Given the description of an element on the screen output the (x, y) to click on. 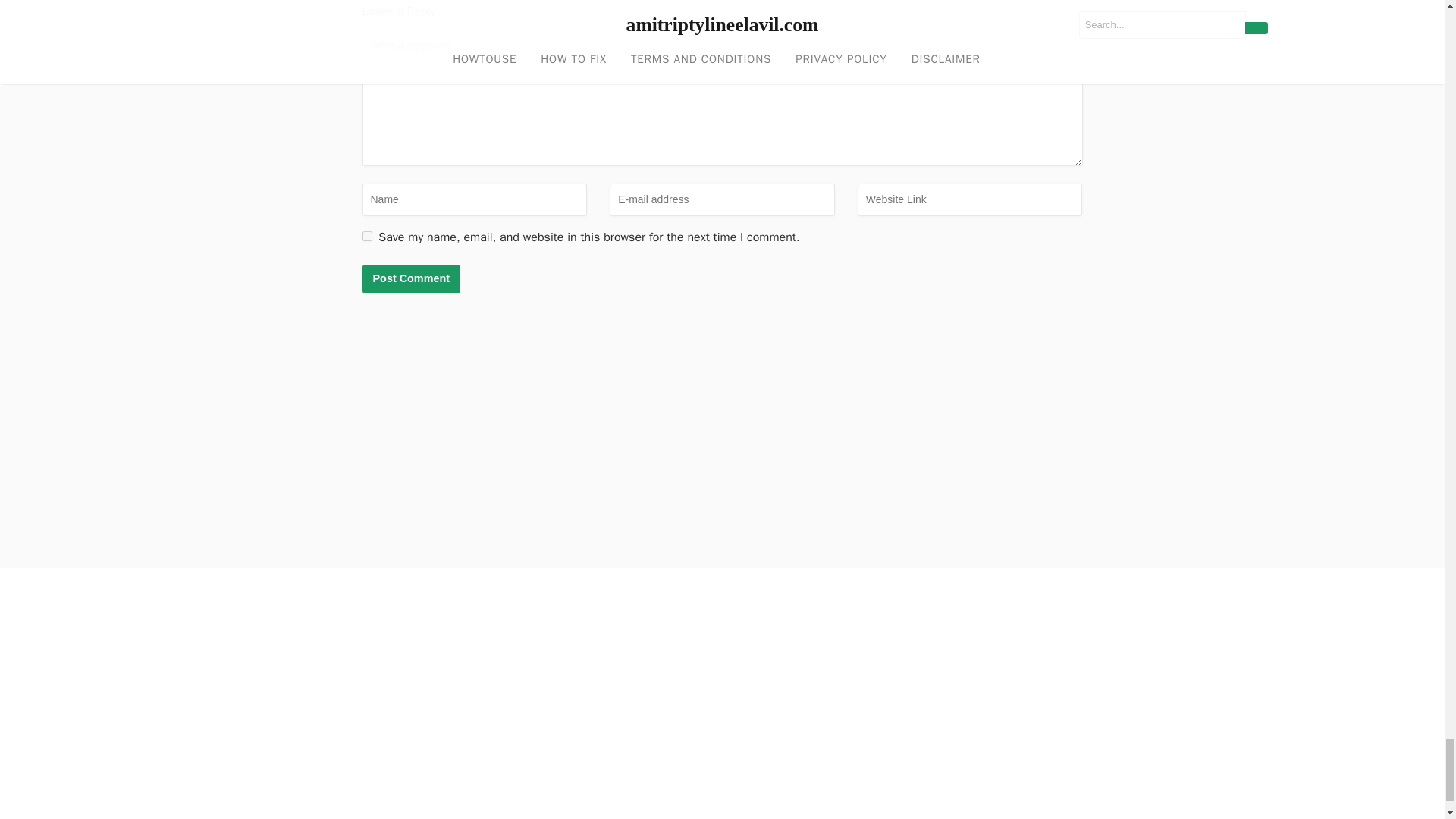
Post Comment (411, 278)
yes (367, 235)
